Given the description of an element on the screen output the (x, y) to click on. 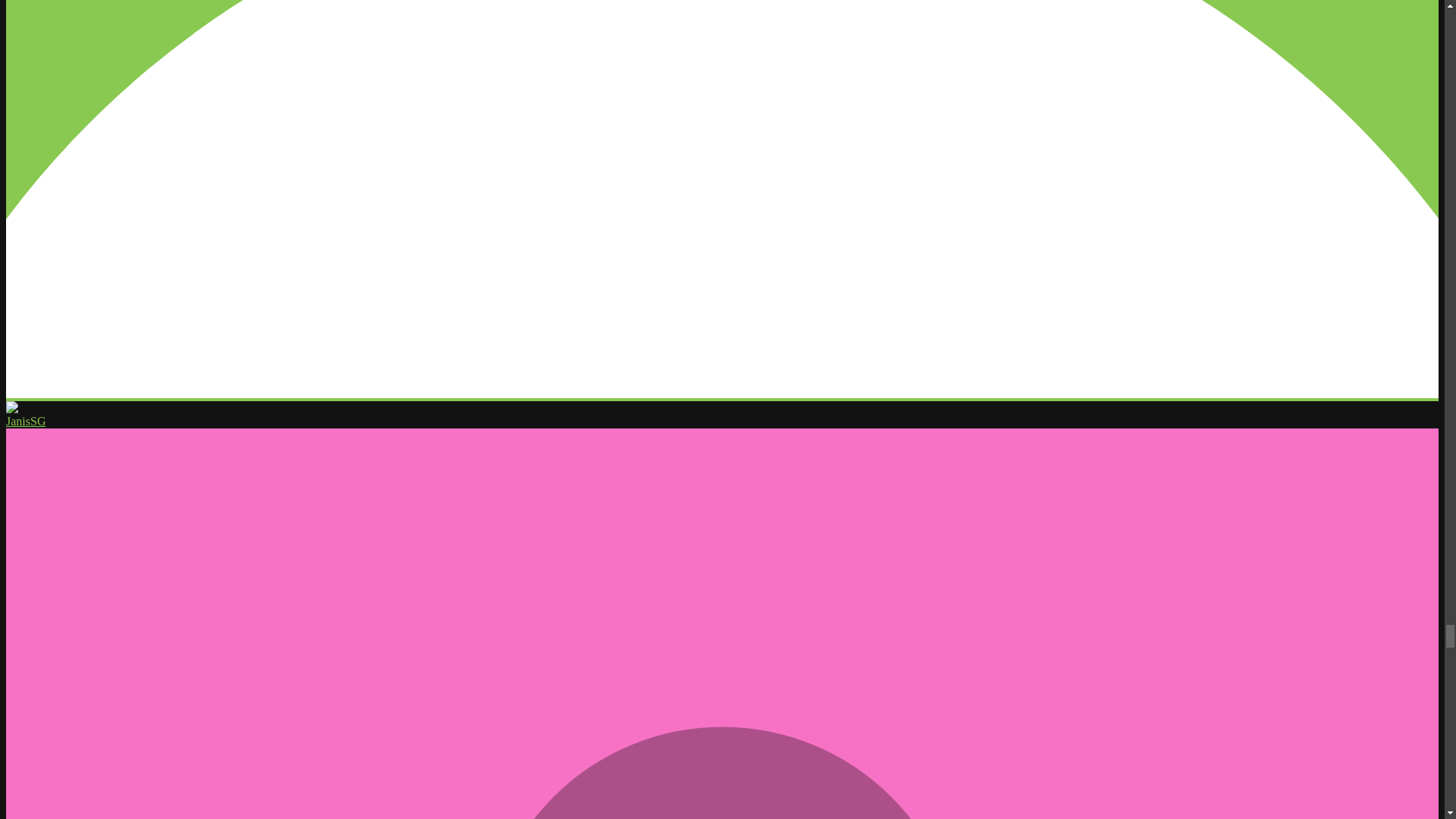
JanisSG (25, 420)
